Given the description of an element on the screen output the (x, y) to click on. 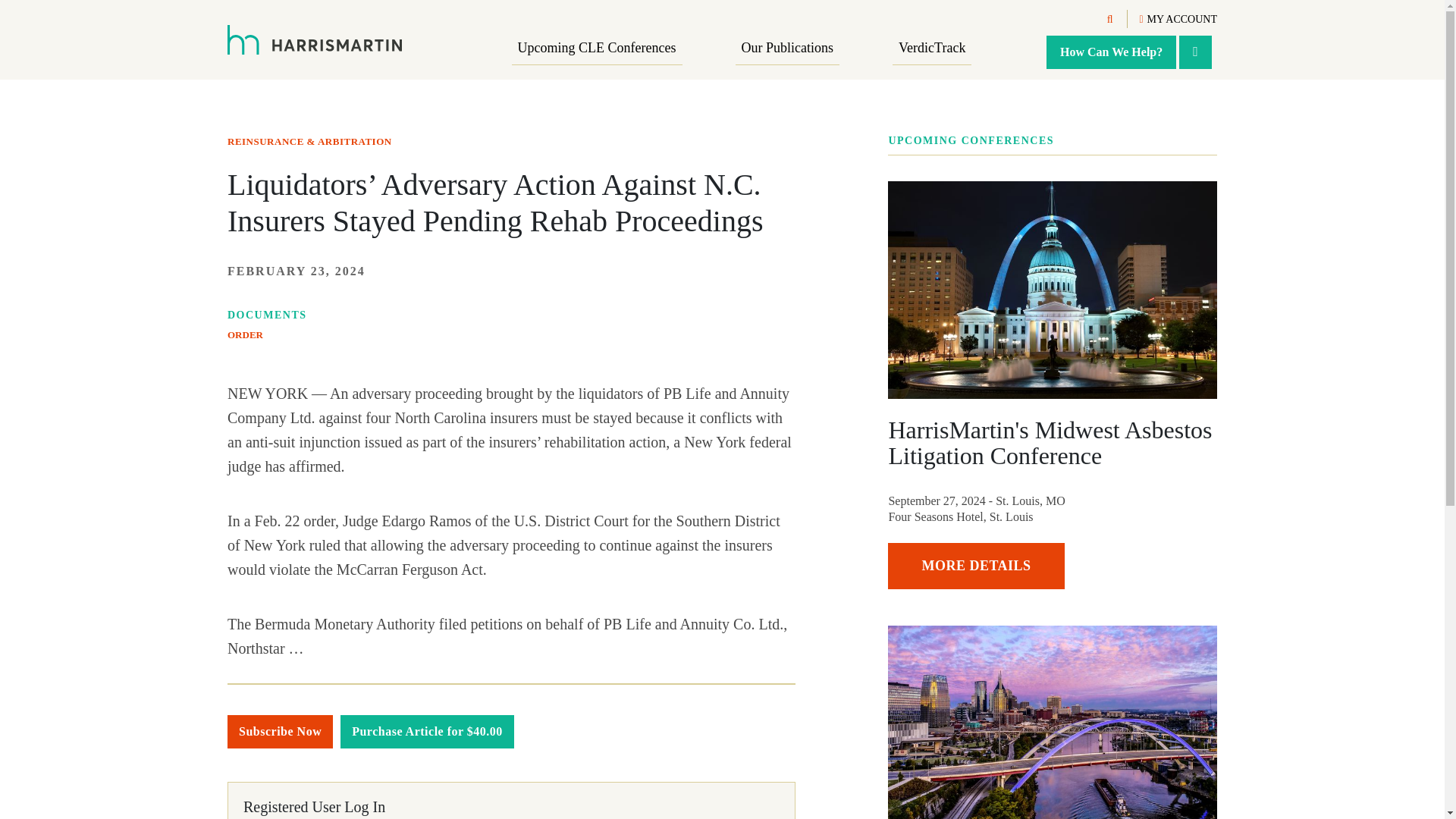
VerdicTrack (931, 48)
Subscribe Now (280, 731)
Upcoming CLE Conferences (597, 48)
How Can We Help? (1111, 52)
Our Publications (787, 48)
MY ACCOUNT (1177, 19)
MORE DETAILS (976, 565)
